Given the description of an element on the screen output the (x, y) to click on. 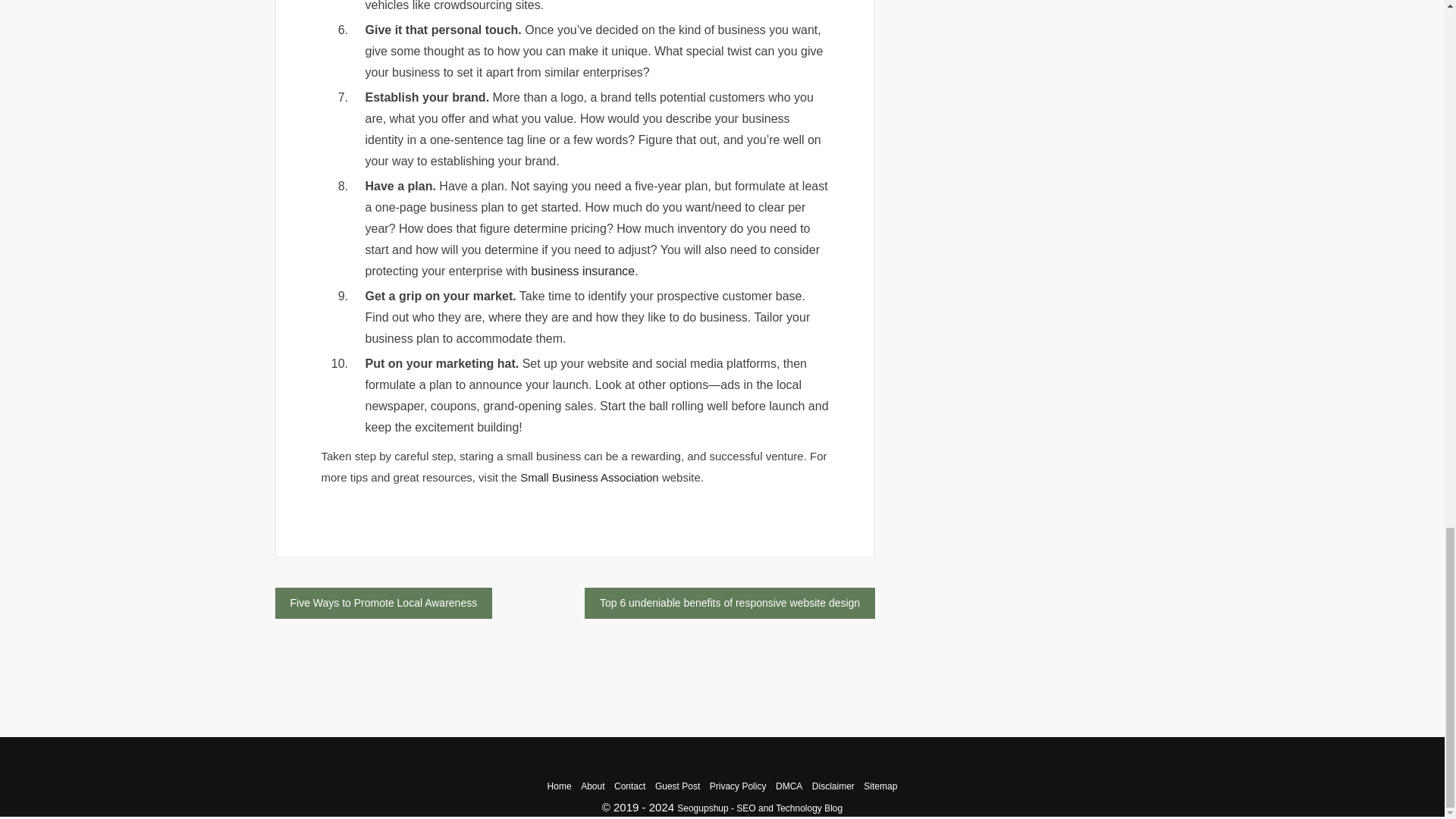
business insurance (582, 270)
Top 6 undeniable benefits of responsive website design (730, 603)
Five Ways to Promote Local Awareness (383, 603)
Small Business Association (589, 477)
